Given the description of an element on the screen output the (x, y) to click on. 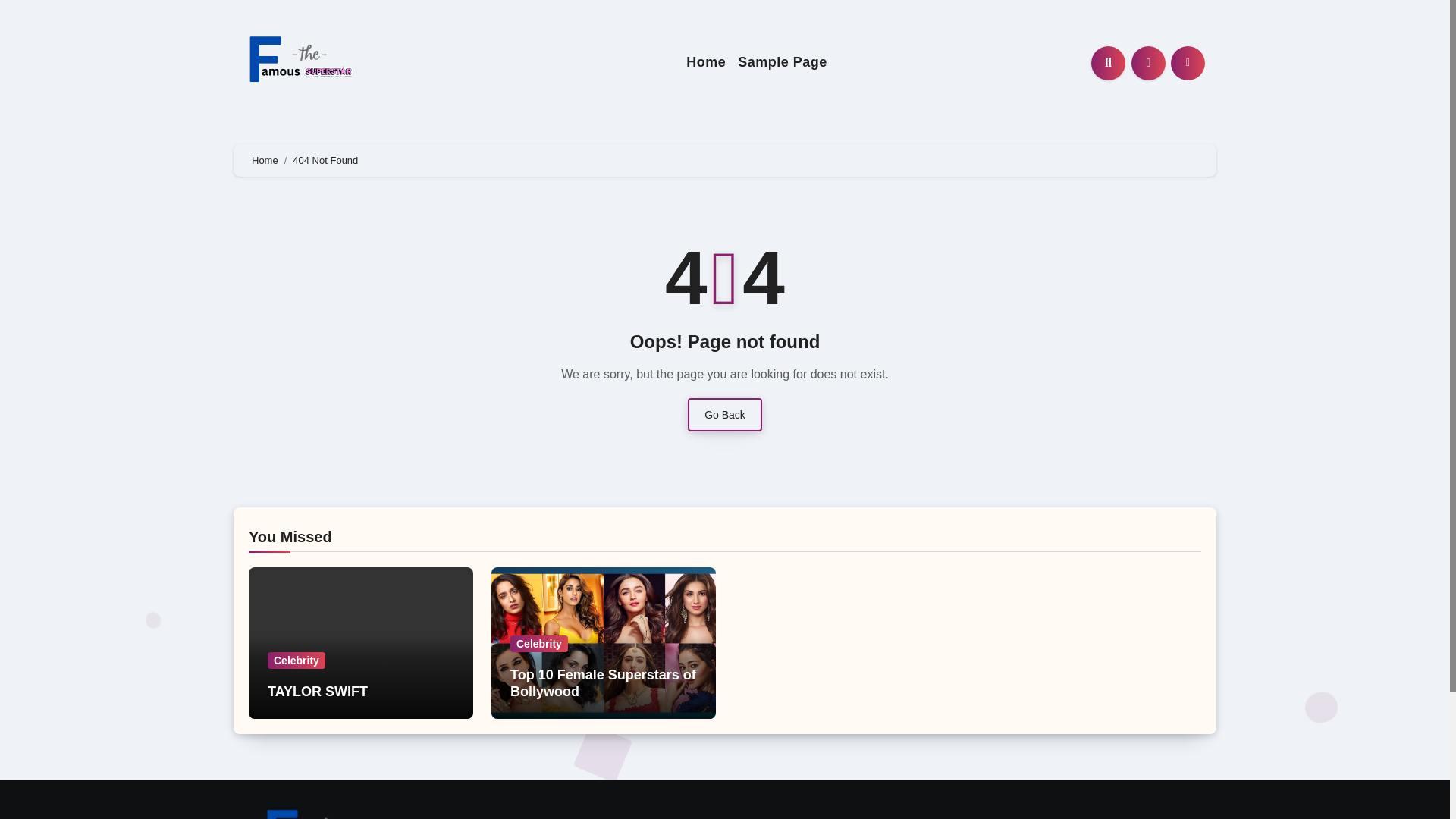
TAYLOR SWIFT (317, 691)
Permalink to: Top 10 Female Superstars of Bollywood (603, 683)
Home (705, 62)
Sample Page (782, 62)
Go Back (724, 414)
Celebrity (295, 660)
Celebrity (539, 643)
Home (264, 160)
Home (705, 62)
Permalink to: TAYLOR SWIFT (317, 691)
